Given the description of an element on the screen output the (x, y) to click on. 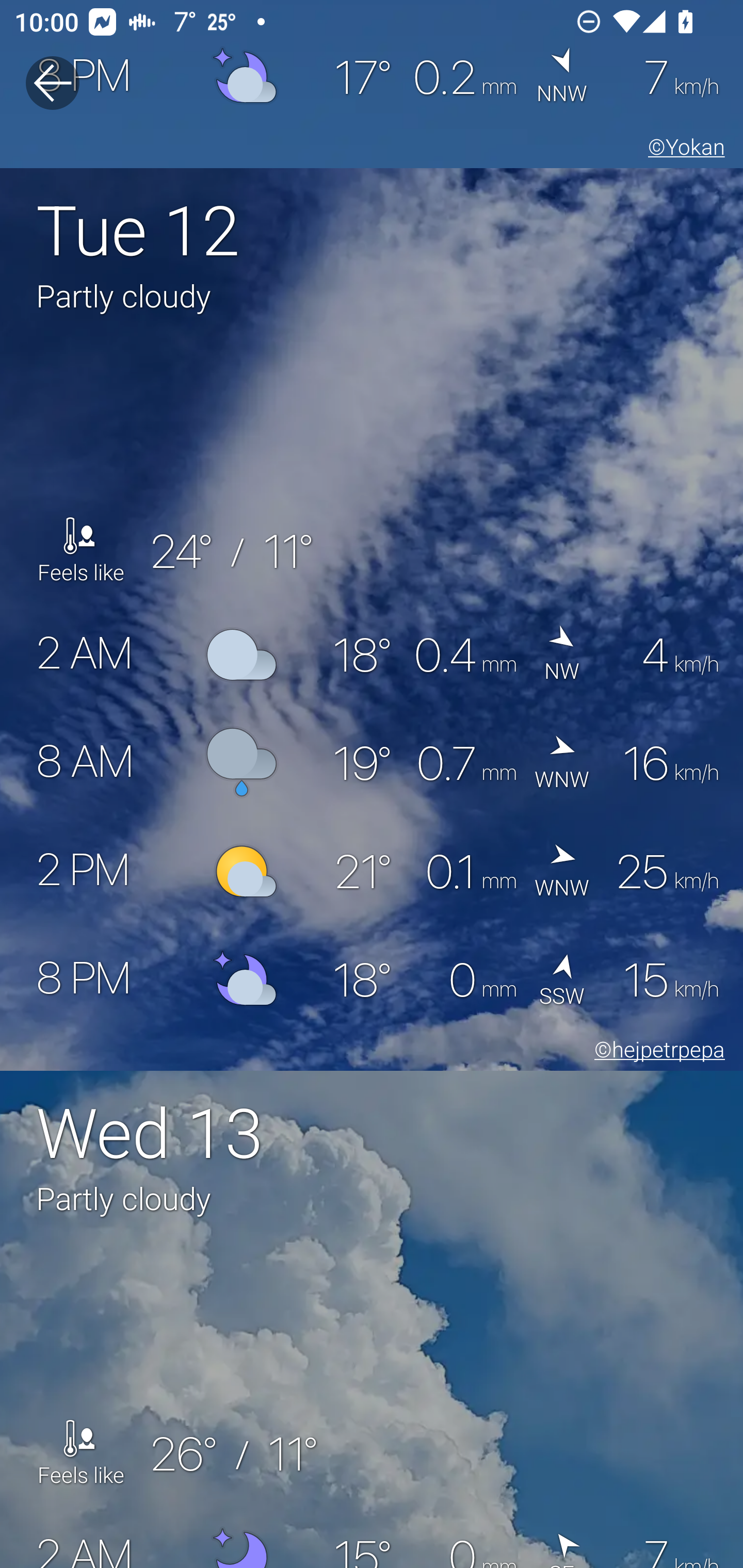
©Yokan (682, 149)
2 AM 18° 0.4 mm  NW 4 km/h (371, 654)
8 AM 19° 0.7 mm  WNW 16 km/h (371, 762)
2 PM 21° 0.1 mm  WNW 25 km/h (371, 870)
8 PM 18° 0 mm  SSW 15 km/h (371, 979)
©hejpetrpepa (655, 1052)
2 AM 15° 0 mm  SE 7 km/h (371, 1535)
